Given the description of an element on the screen output the (x, y) to click on. 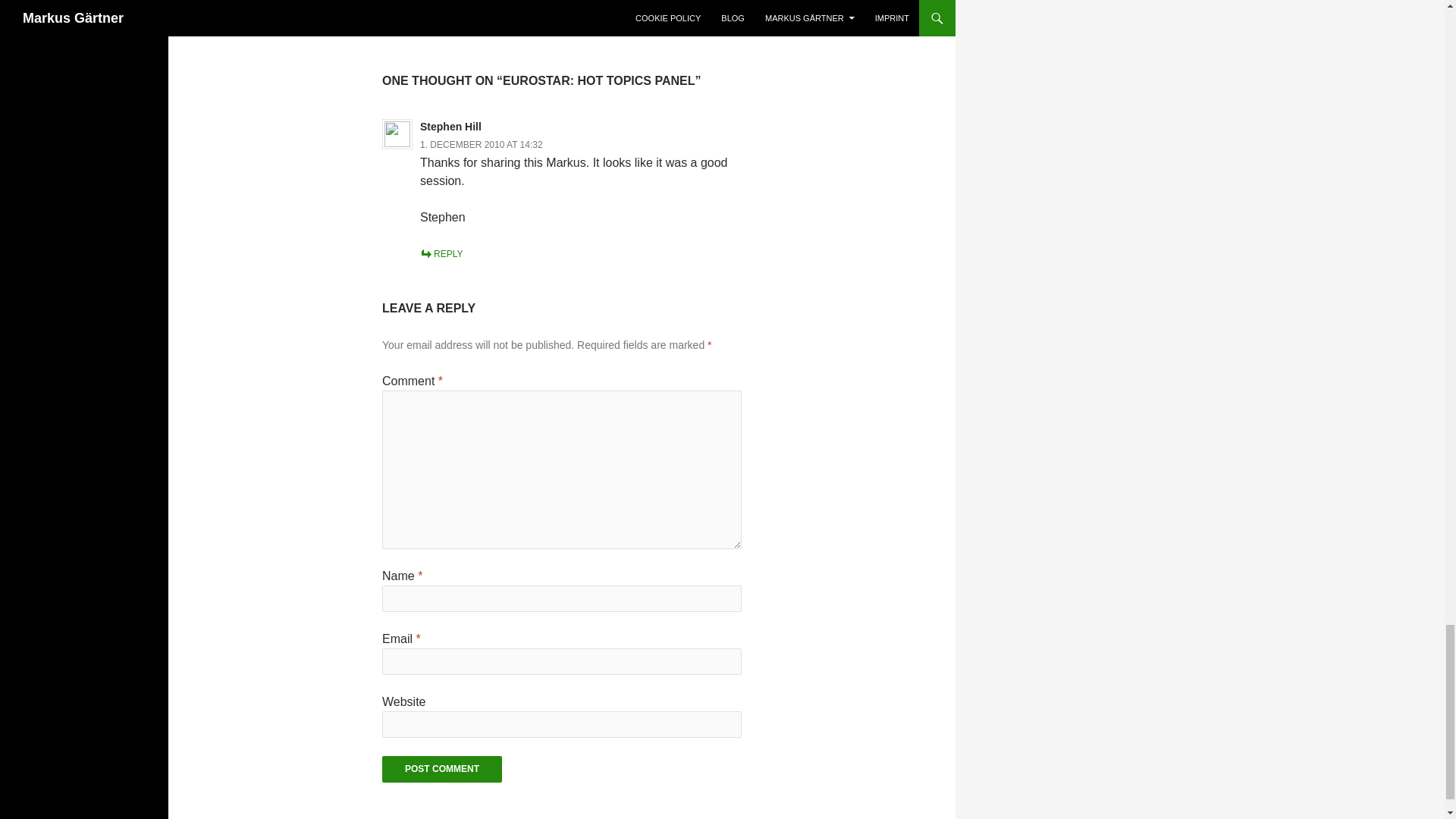
1. DECEMBER 2010 AT 14:32 (481, 144)
REPLY (441, 253)
Stephen Hill (450, 126)
Post Comment (441, 768)
Post Comment (441, 768)
